Given the description of an element on the screen output the (x, y) to click on. 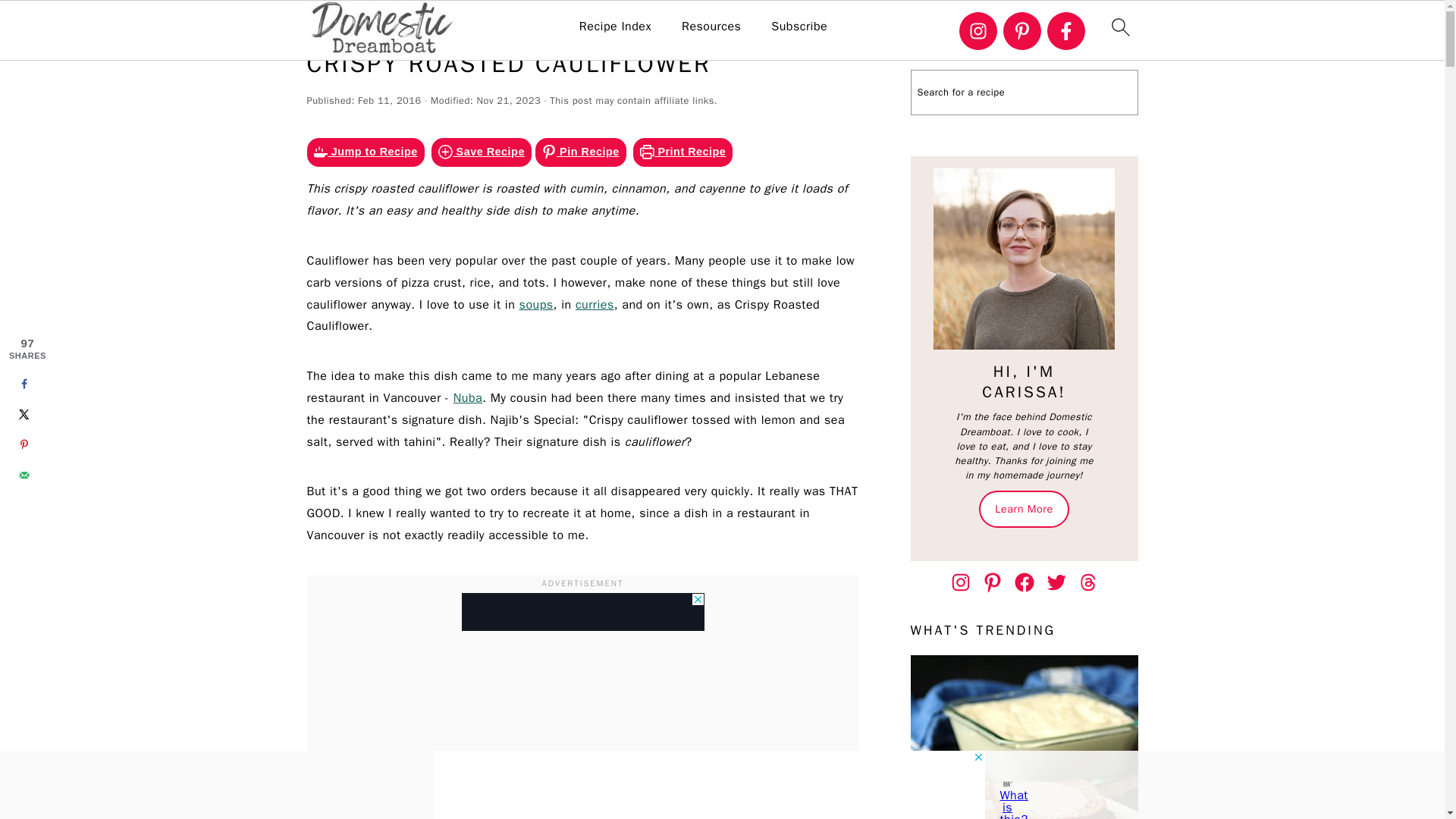
Side Dish (531, 21)
Pin Recipe (580, 152)
Home (403, 21)
Jump to Recipe (364, 152)
Subscribe (799, 26)
Jump to Recipe (364, 152)
search icon (1119, 26)
Dish Type (461, 21)
Recipe Index (614, 26)
Resources (711, 26)
Save Recipe (480, 152)
3rd party ad content (582, 611)
